Given the description of an element on the screen output the (x, y) to click on. 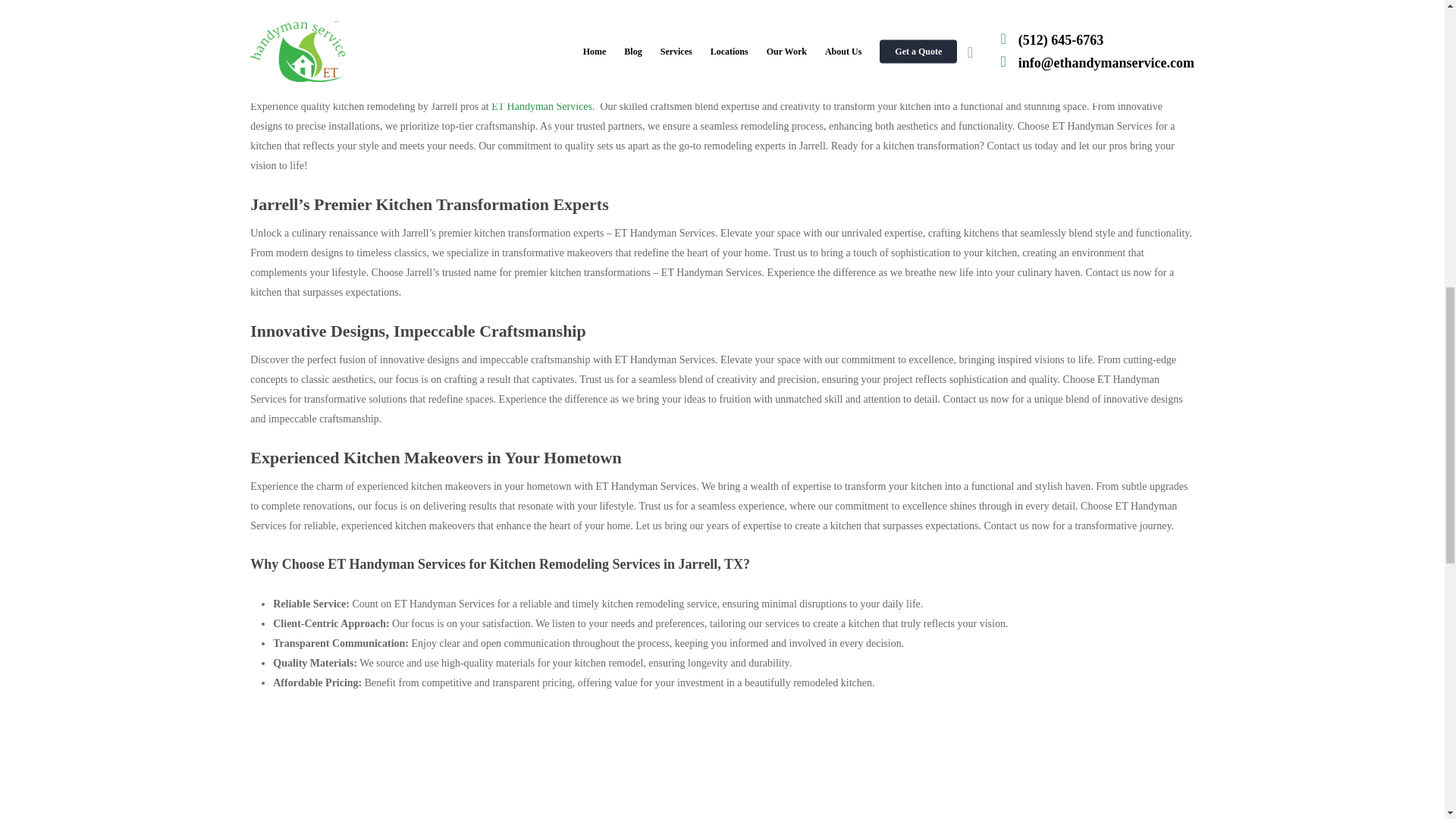
ET Handyman Services (542, 106)
